Given the description of an element on the screen output the (x, y) to click on. 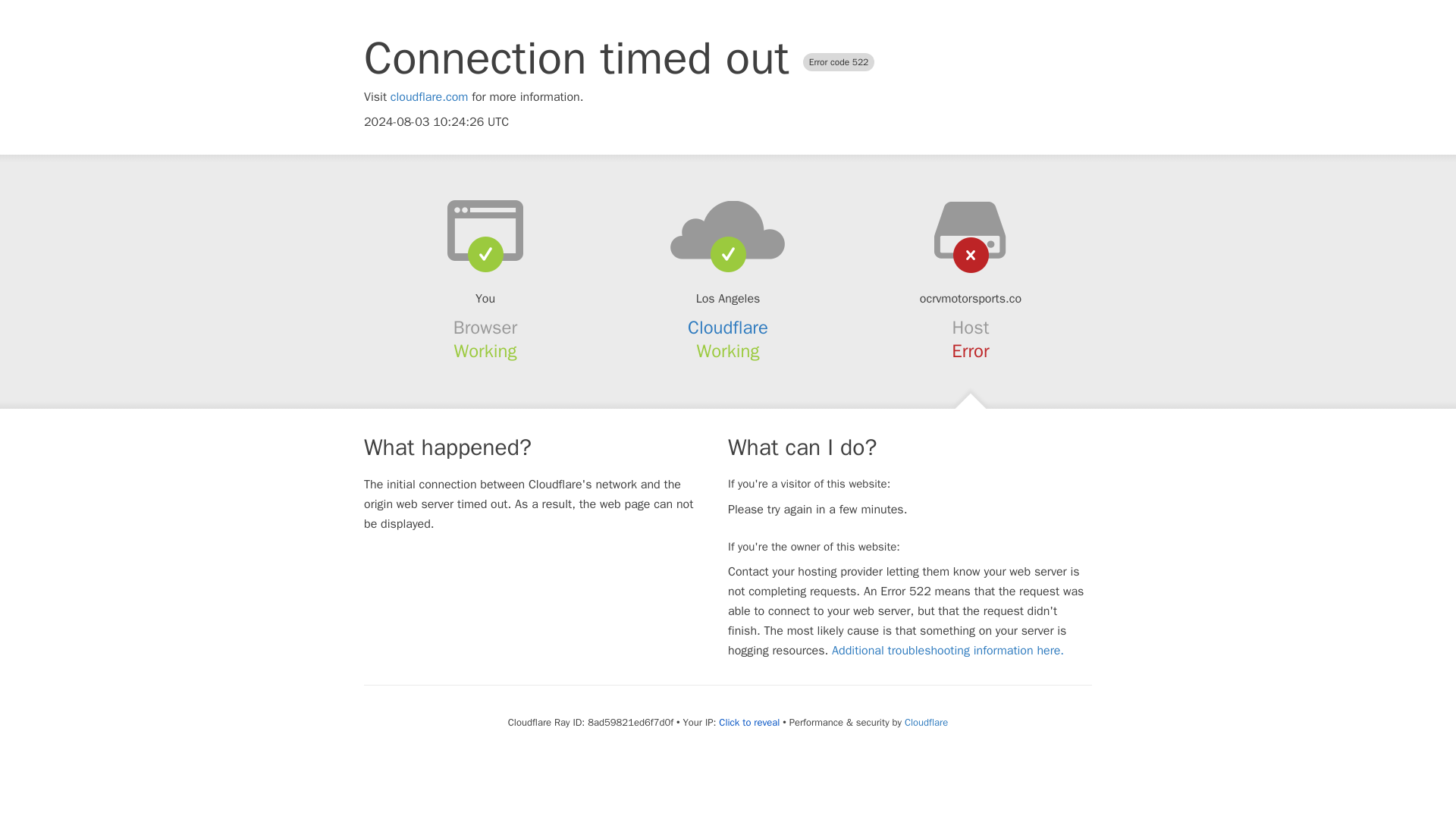
Cloudflare (727, 327)
Cloudflare (925, 721)
Additional troubleshooting information here. (947, 650)
Click to reveal (748, 722)
cloudflare.com (429, 96)
